Given the description of an element on the screen output the (x, y) to click on. 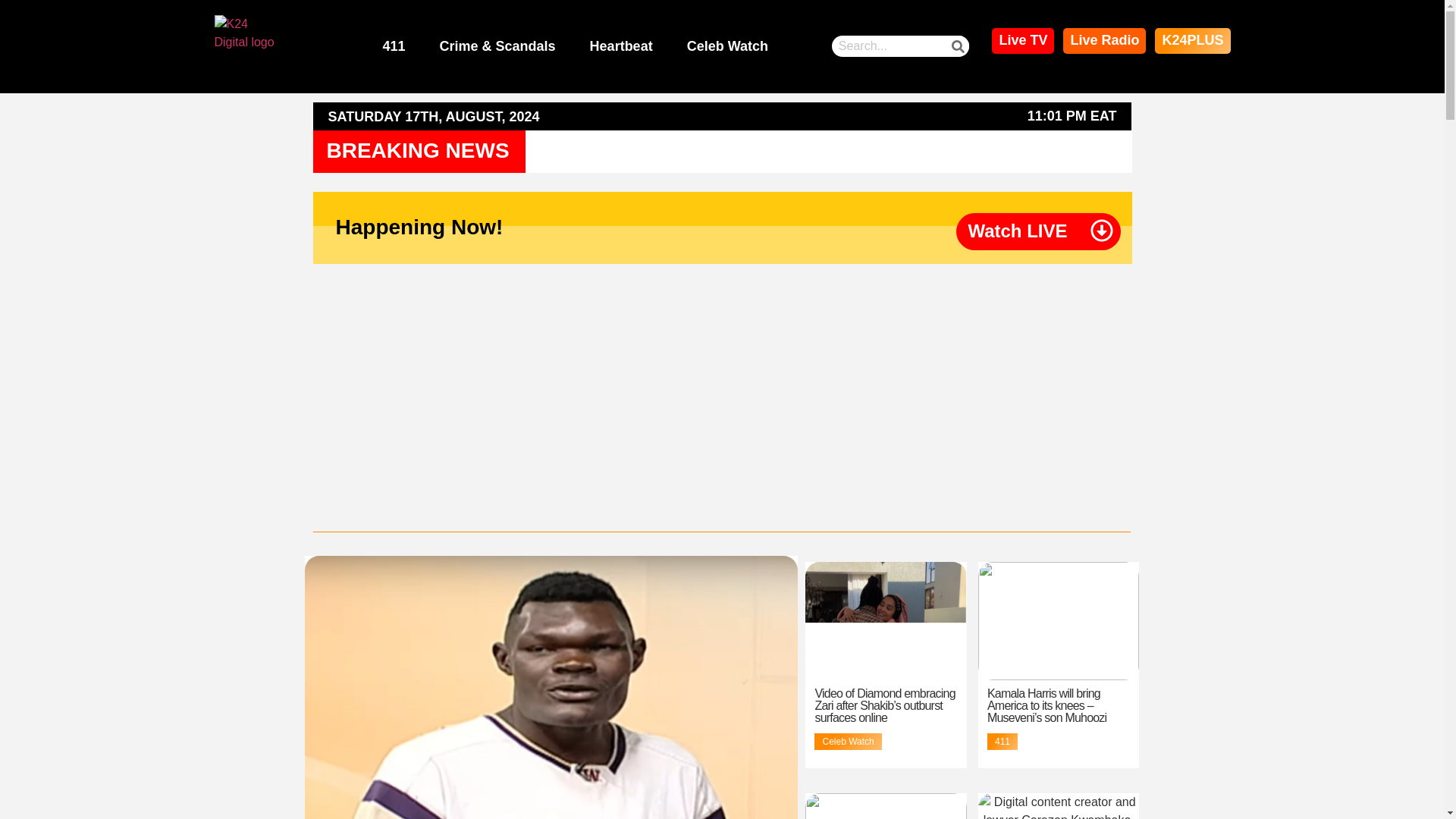
Live Radio (1103, 40)
Live TV (1022, 40)
Watch LIVE (1017, 230)
Celeb Watch (727, 46)
K24PLUS (1192, 40)
